Given the description of an element on the screen output the (x, y) to click on. 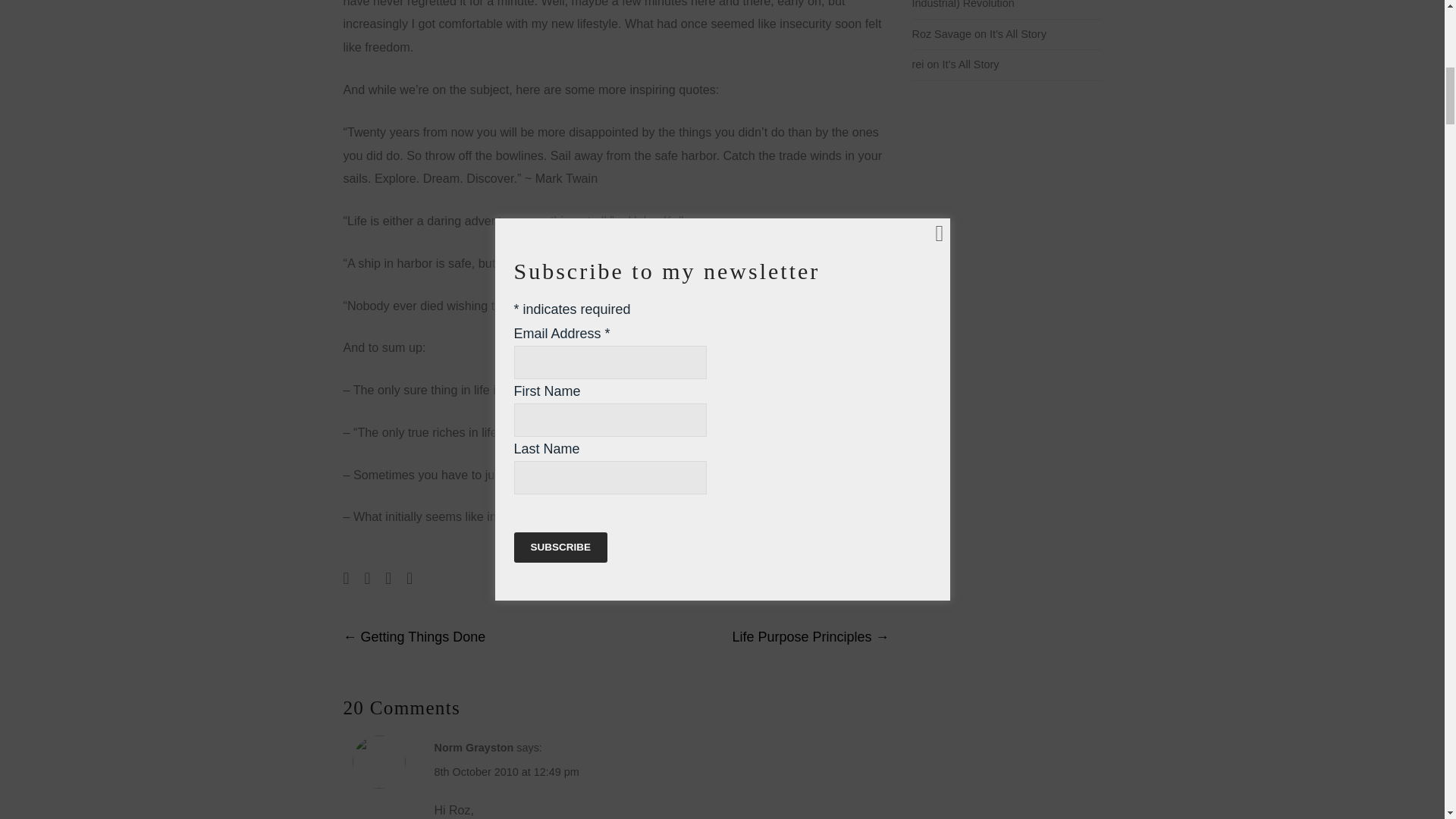
Share on Twitter (366, 578)
Share on Facebook (345, 578)
Share on Pinterest (409, 578)
8th October 2010 at 12:49 pm (505, 771)
